Given the description of an element on the screen output the (x, y) to click on. 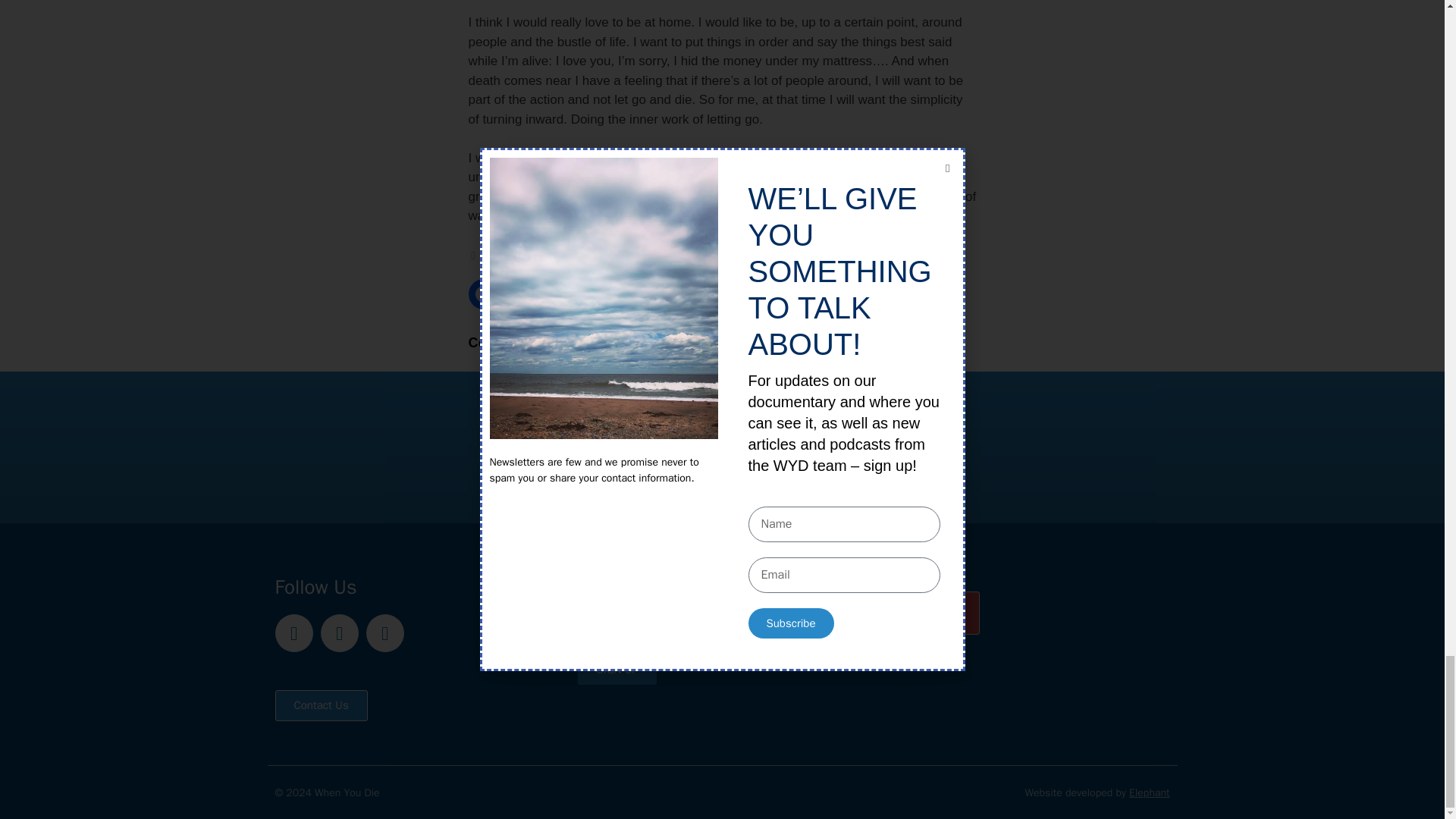
Click to share on Twitter (523, 294)
Death Documentary (617, 254)
death and dying (523, 254)
Click to share on Facebook (483, 294)
Click to share on Pinterest (563, 294)
what happens when you die (738, 254)
When You Die Project (865, 254)
